Given the description of an element on the screen output the (x, y) to click on. 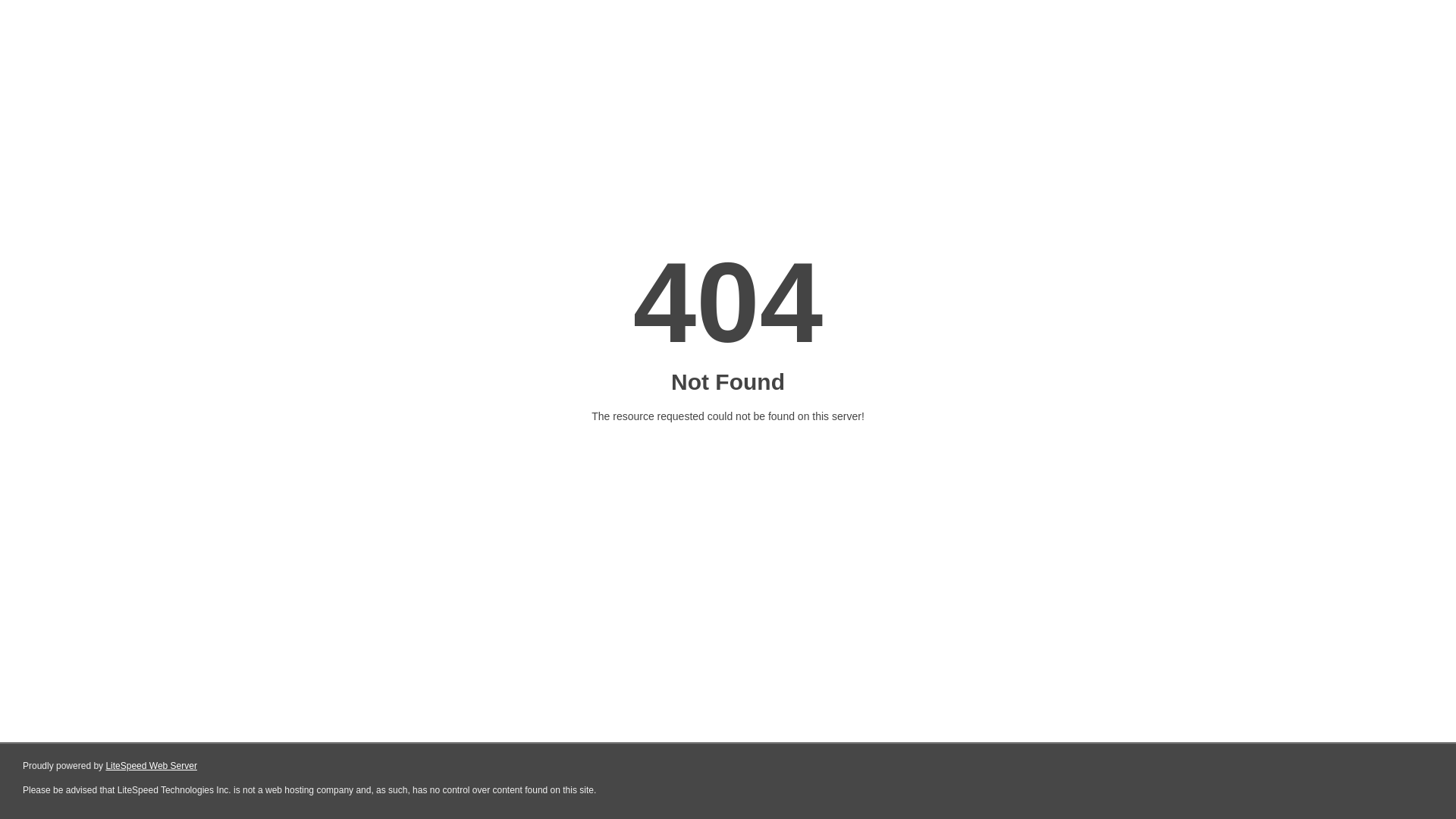
LiteSpeed Web Server Element type: text (151, 765)
